Given the description of an element on the screen output the (x, y) to click on. 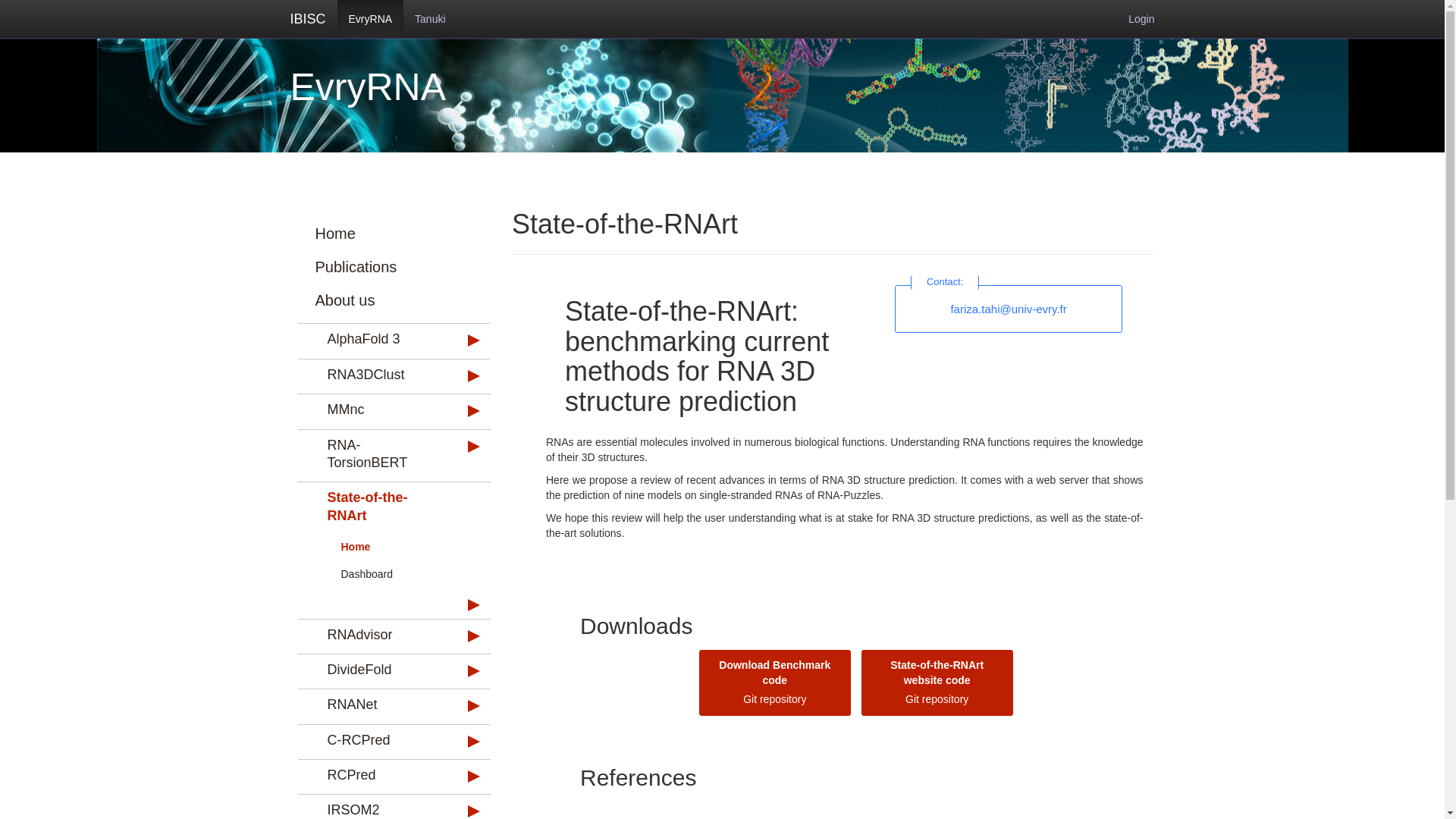
RNA-TorsionBERT (375, 454)
State-of-the-RNArt (375, 506)
MMnc (375, 409)
About us (378, 300)
IRSOM2 (375, 808)
Login (1141, 18)
RNANet (375, 704)
EvryRNA (370, 18)
Dashboard (378, 574)
Home (378, 233)
